Given the description of an element on the screen output the (x, y) to click on. 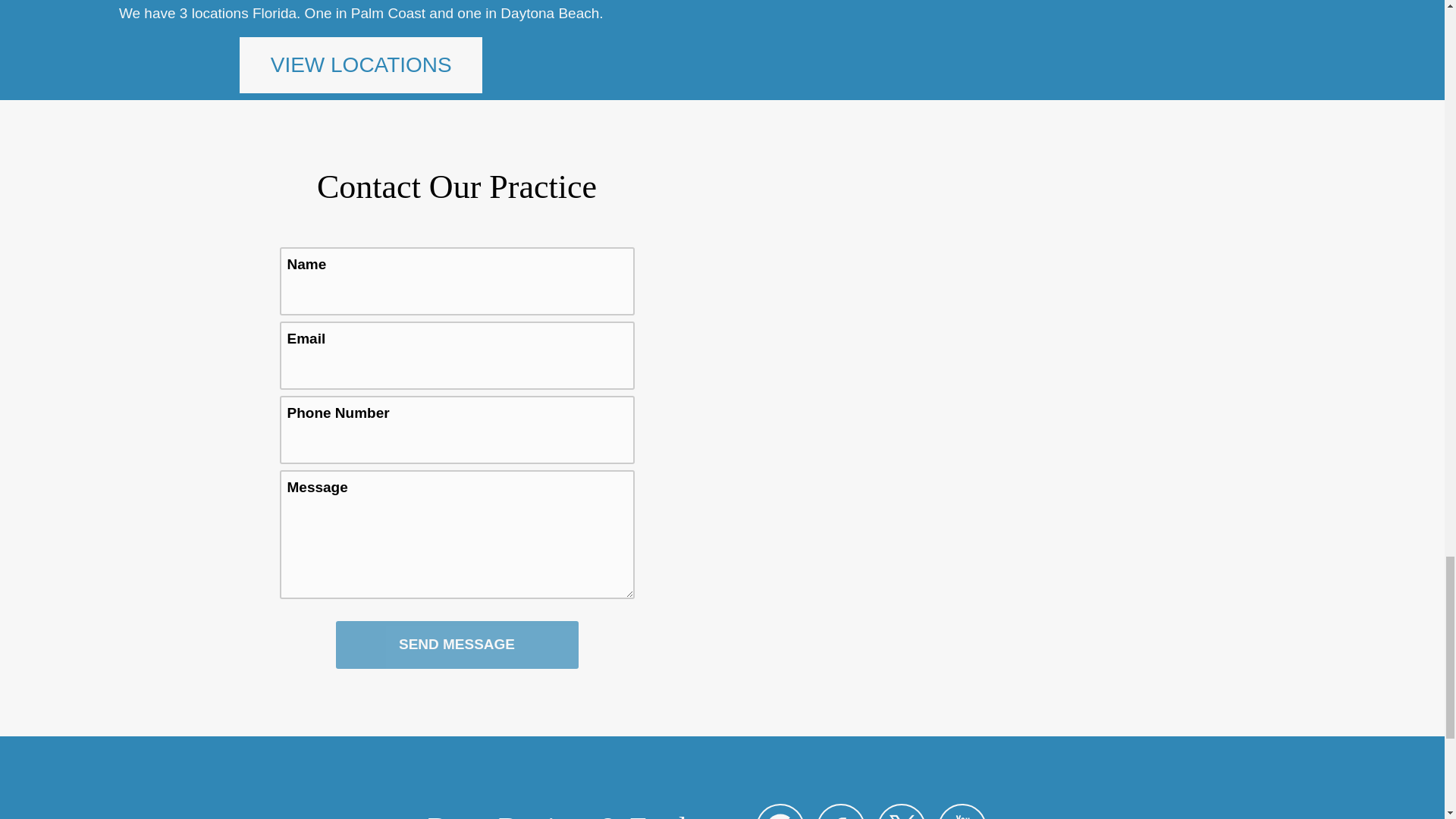
YouTube (962, 811)
Facebook (840, 811)
Twitter (901, 811)
Google (780, 811)
VIEW LOCATIONS (360, 64)
SEND MESSAGE (456, 644)
